Given the description of an element on the screen output the (x, y) to click on. 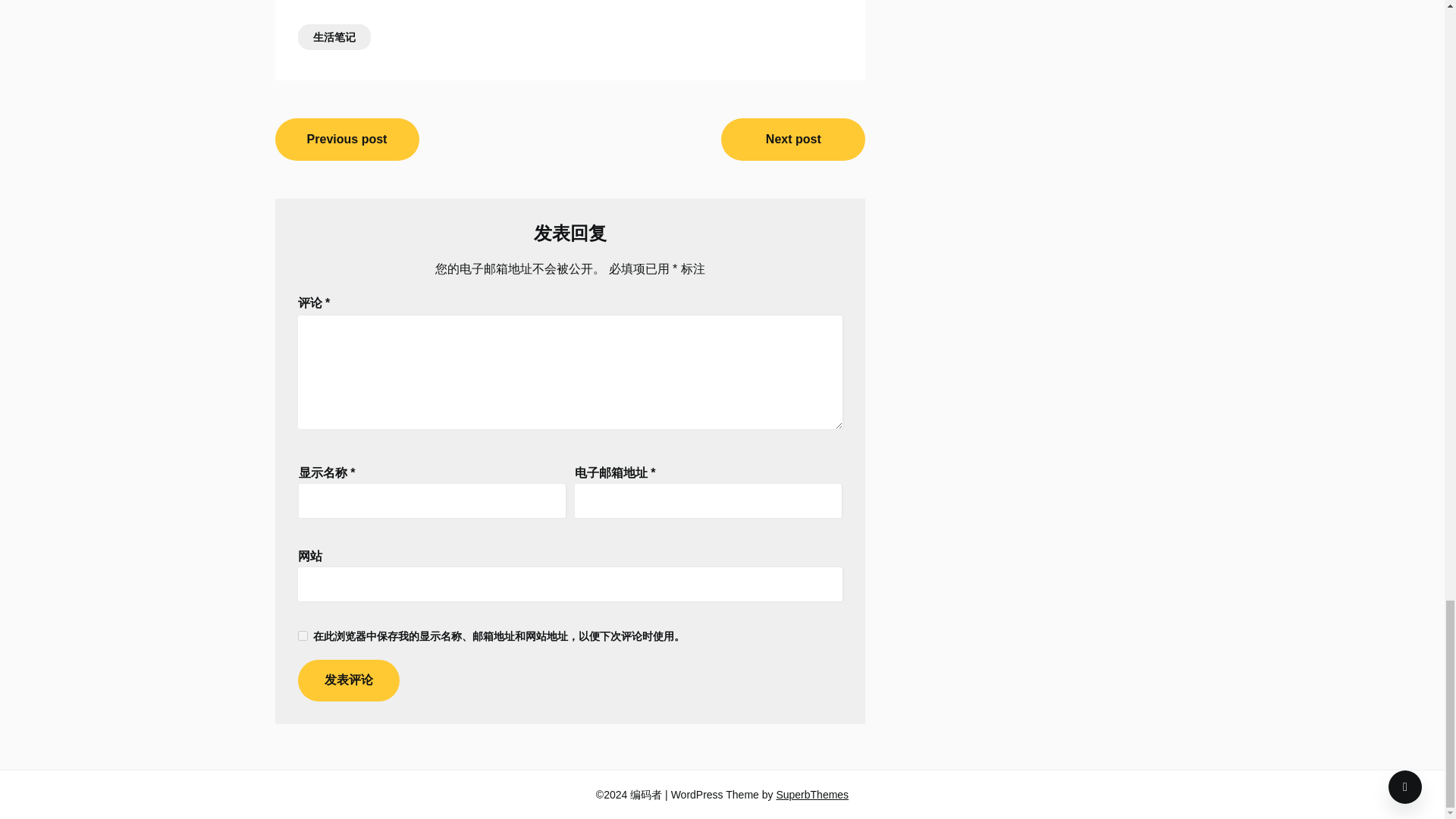
Next post (792, 138)
Previous post (347, 138)
yes (302, 635)
